Given the description of an element on the screen output the (x, y) to click on. 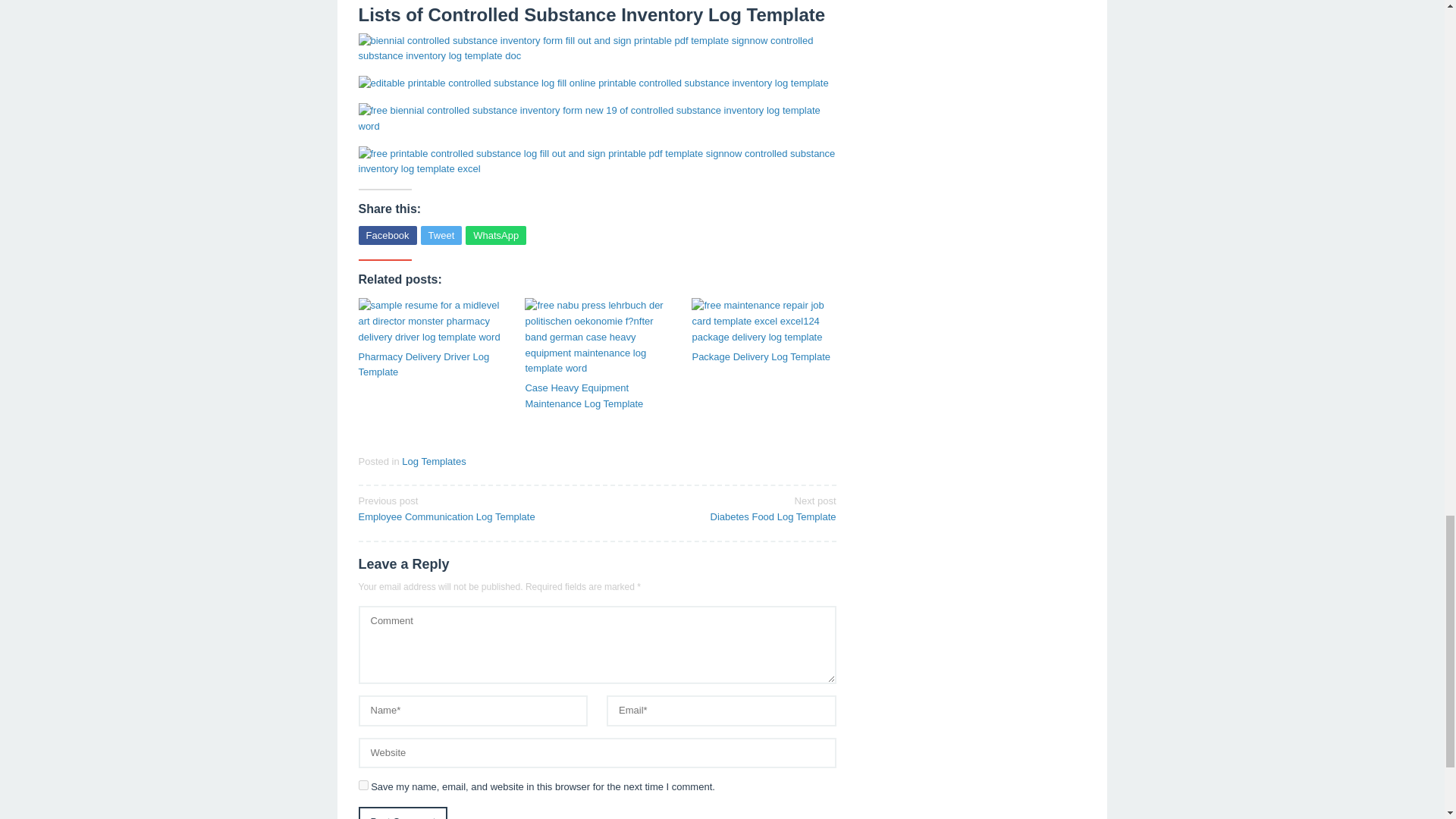
WhatsApp this (495, 235)
Facebook (387, 235)
Share this (387, 235)
Post Comment (402, 812)
yes (363, 785)
Case Heavy Equipment Maintenance Log Template (596, 396)
Permalink to: Case Heavy Equipment Maintenance Log Template (596, 337)
Tweet this (441, 235)
Pharmacy Delivery Driver Log Template (430, 365)
Permalink to: Package Delivery Log Template (763, 321)
Permalink to: Case Heavy Equipment Maintenance Log Template (596, 396)
Post Comment (402, 812)
Permalink to: Package Delivery Log Template (763, 357)
Permalink to: Pharmacy Delivery Driver Log Template (430, 321)
